Given the description of an element on the screen output the (x, y) to click on. 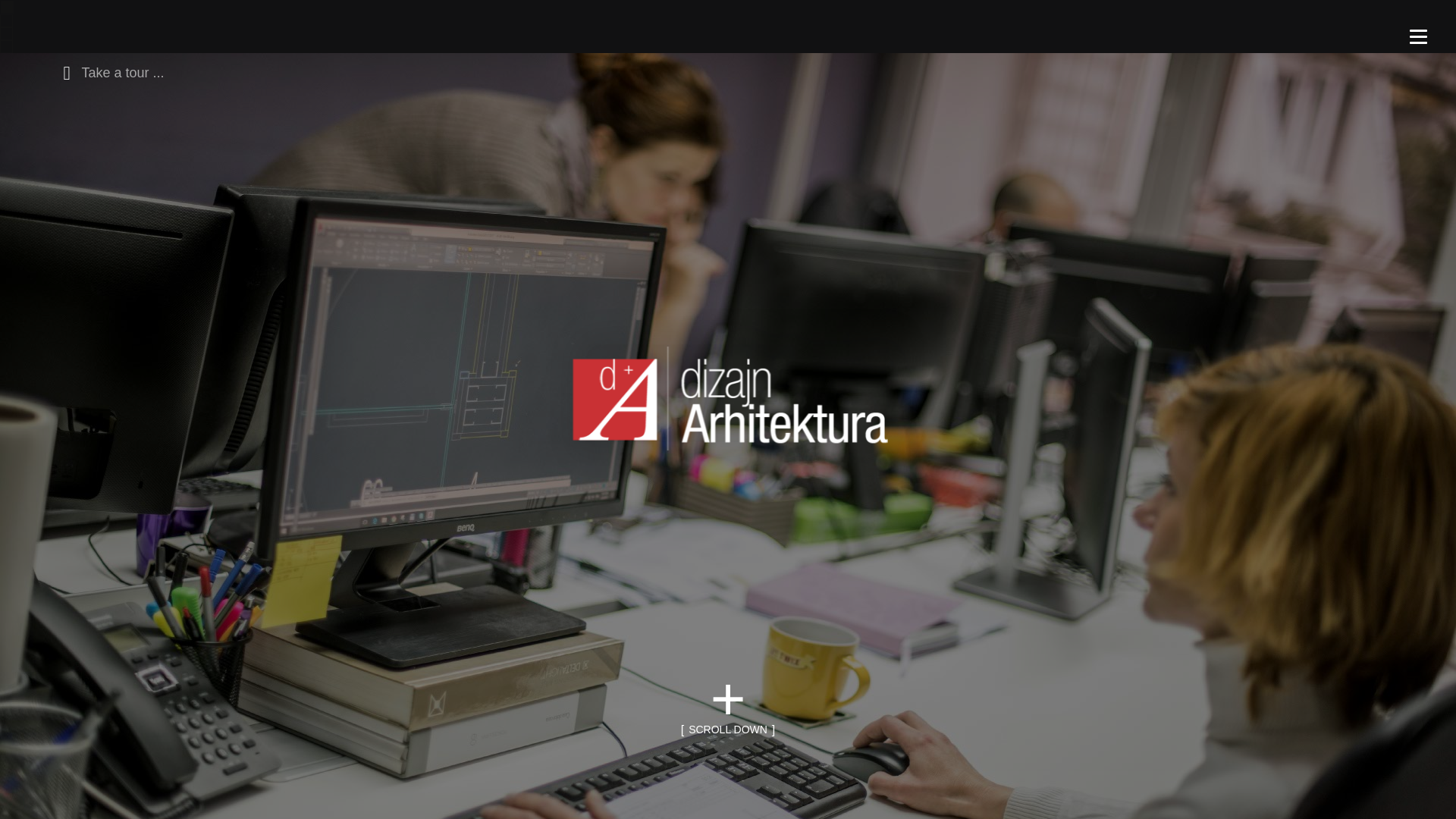
SCROLL DOWN (727, 730)
Take a tour ... (109, 70)
